Given the description of an element on the screen output the (x, y) to click on. 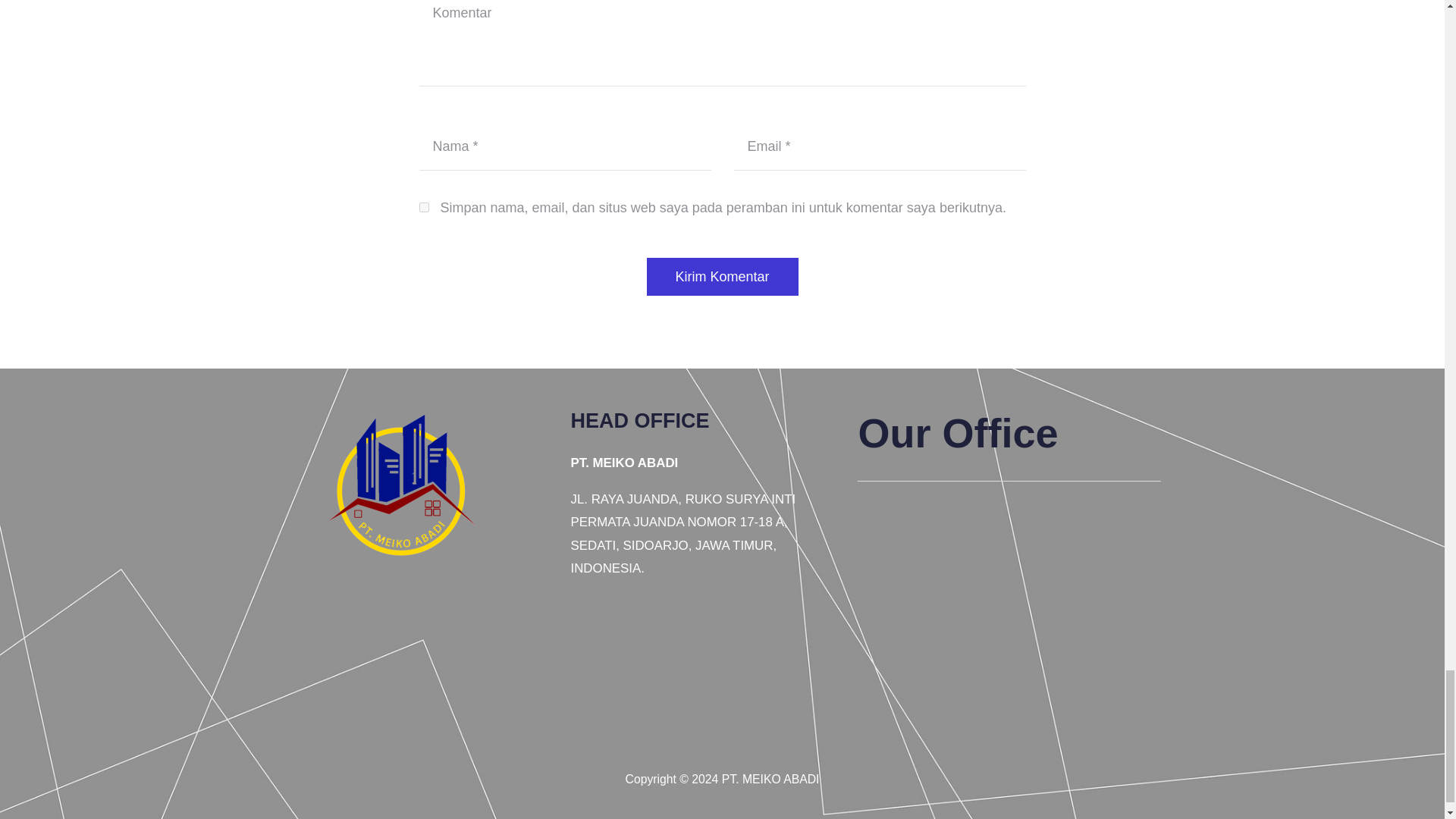
yes (423, 207)
Kirim Komentar (721, 276)
